Given the description of an element on the screen output the (x, y) to click on. 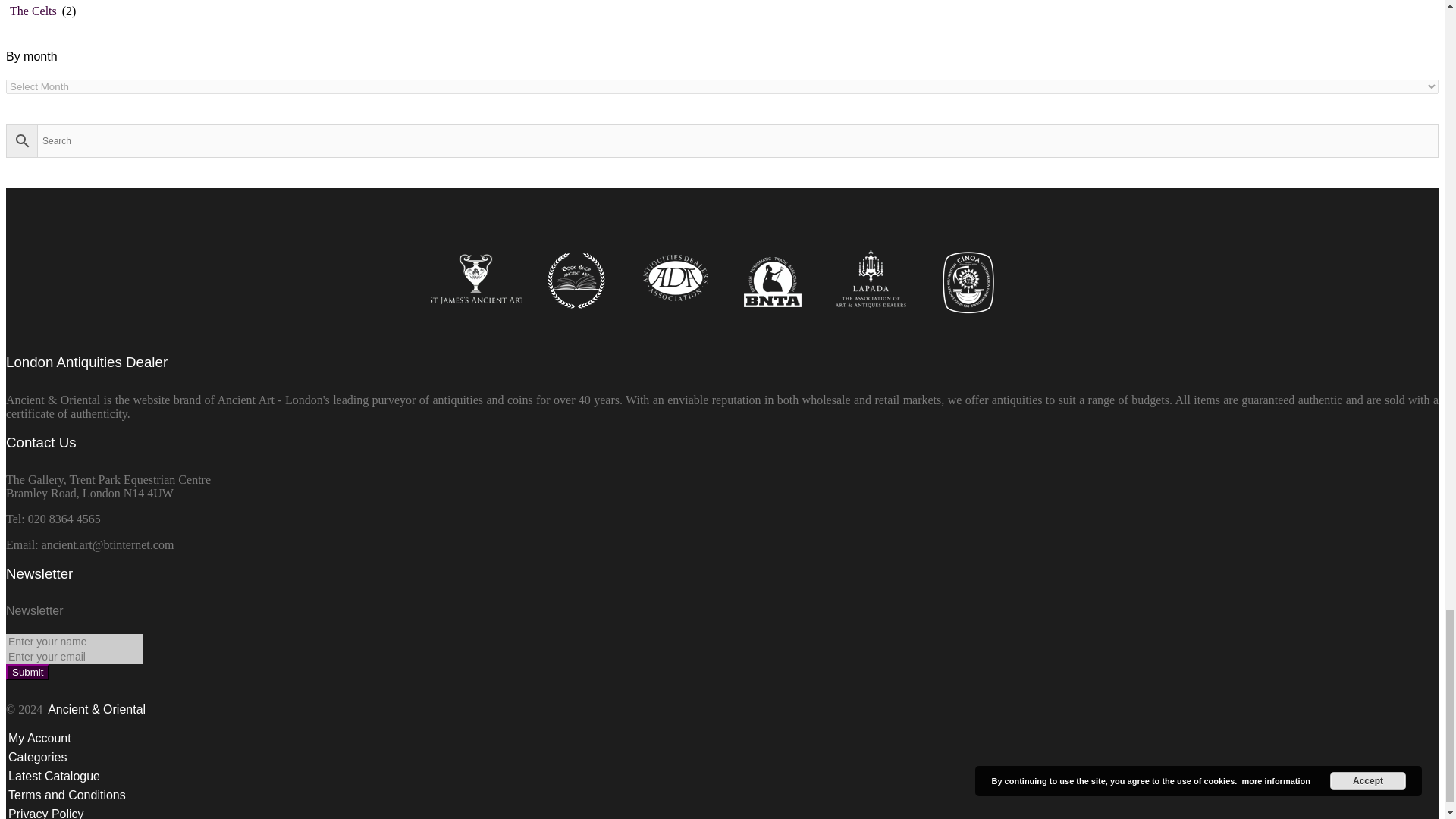
St James Ancient Art (475, 282)
